Given the description of an element on the screen output the (x, y) to click on. 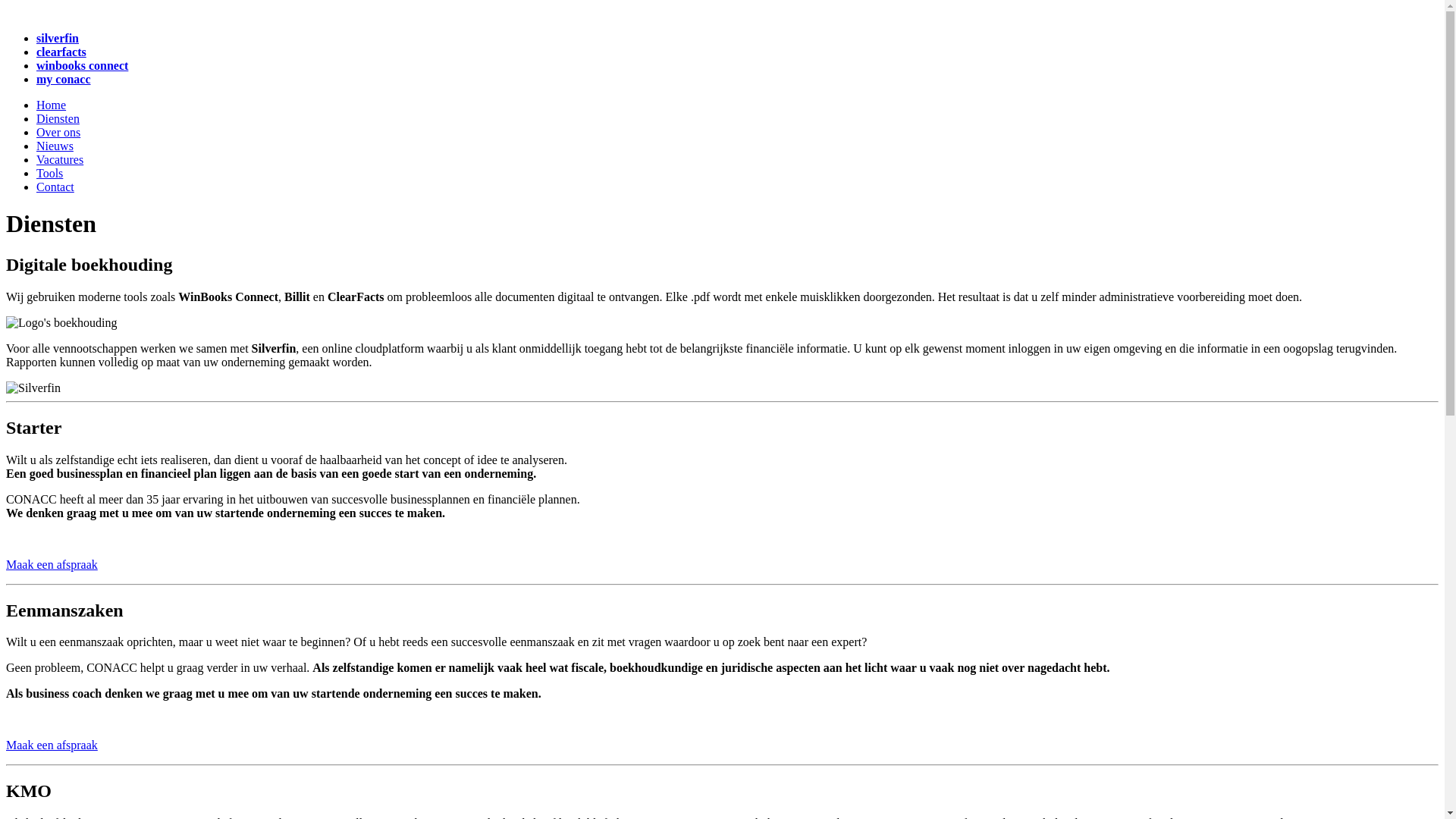
Vacatures Element type: text (59, 159)
Over ons Element type: text (58, 131)
silverfin Element type: text (57, 37)
Diensten Element type: text (57, 118)
clearfacts Element type: text (61, 51)
Maak een afspraak Element type: text (51, 744)
Tools Element type: text (49, 172)
Home Element type: text (50, 104)
Nieuws Element type: text (54, 145)
winbooks connect Element type: text (82, 65)
Contact Element type: text (55, 186)
Maak een afspraak Element type: text (51, 564)
my conacc Element type: text (63, 78)
